Given the description of an element on the screen output the (x, y) to click on. 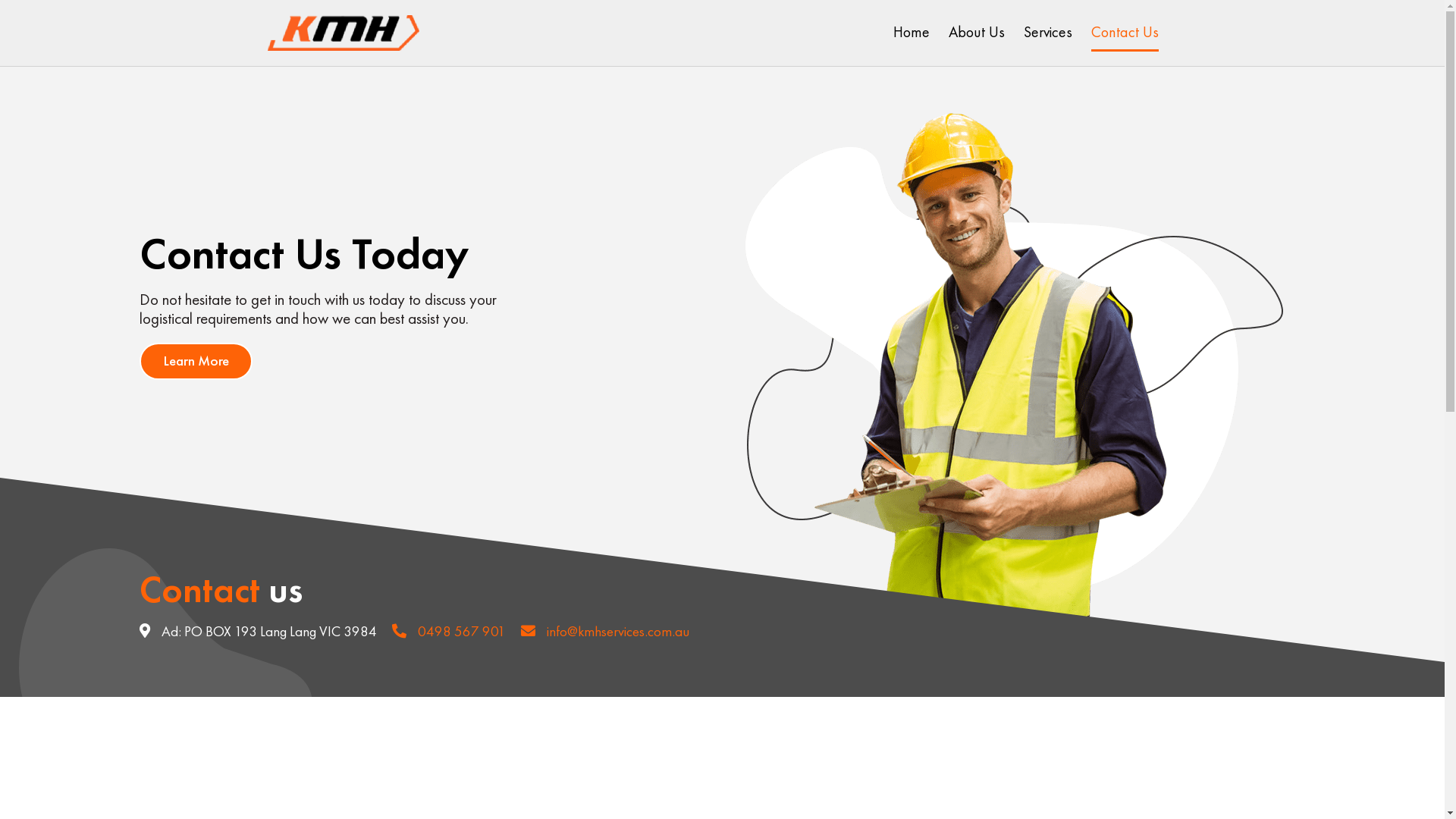
0498 567 901 Element type: text (448, 630)
Contact Us Element type: text (1123, 31)
About Us Element type: text (975, 31)
Home Element type: text (911, 31)
info@kmhservices.com.au Element type: text (604, 630)
Services Element type: text (1047, 31)
Learn More Element type: text (195, 360)
img-contact-01-min Element type: hover (1014, 385)
